Given the description of an element on the screen output the (x, y) to click on. 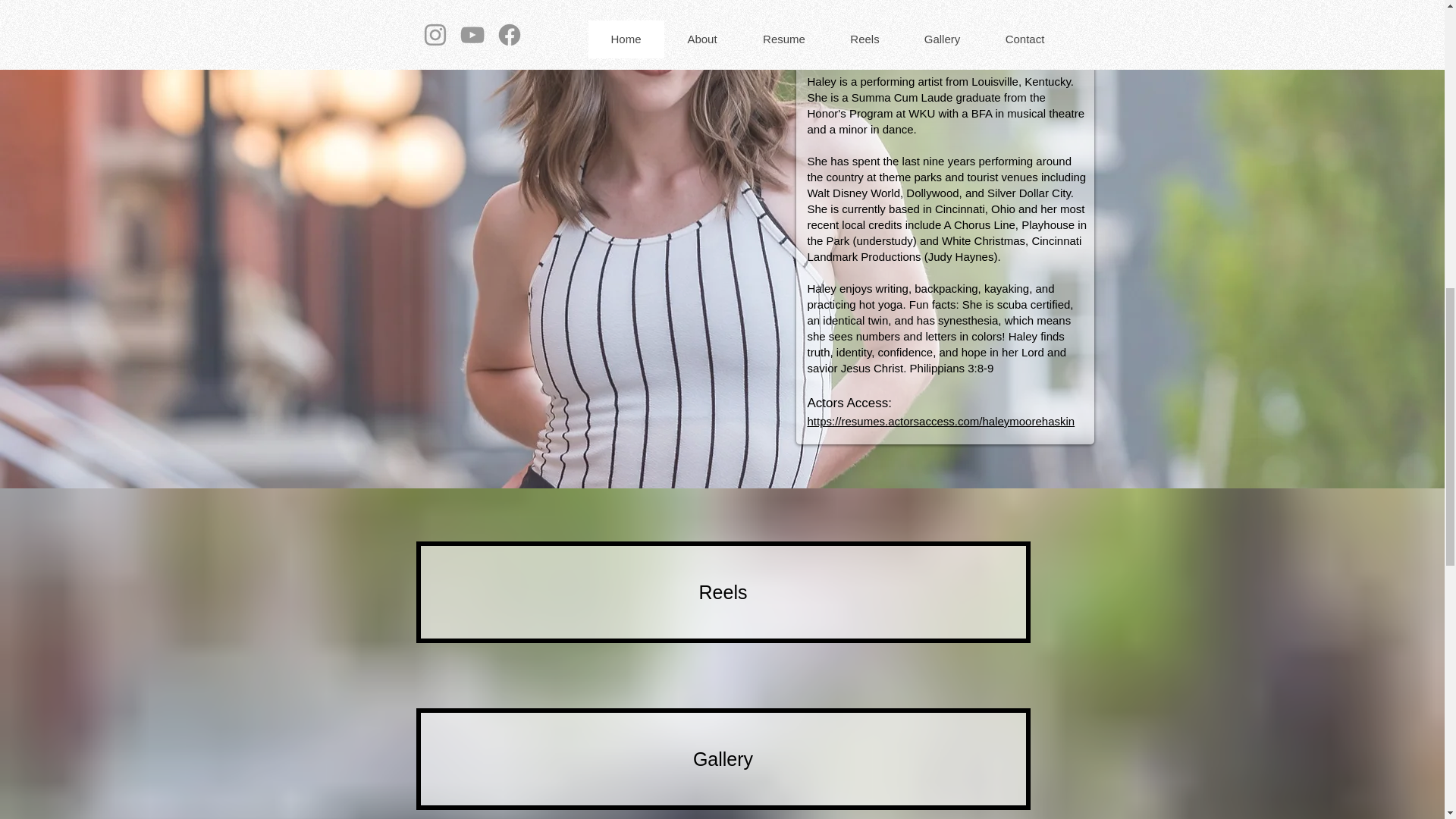
Gallery (721, 758)
Reels (721, 591)
